Given the description of an element on the screen output the (x, y) to click on. 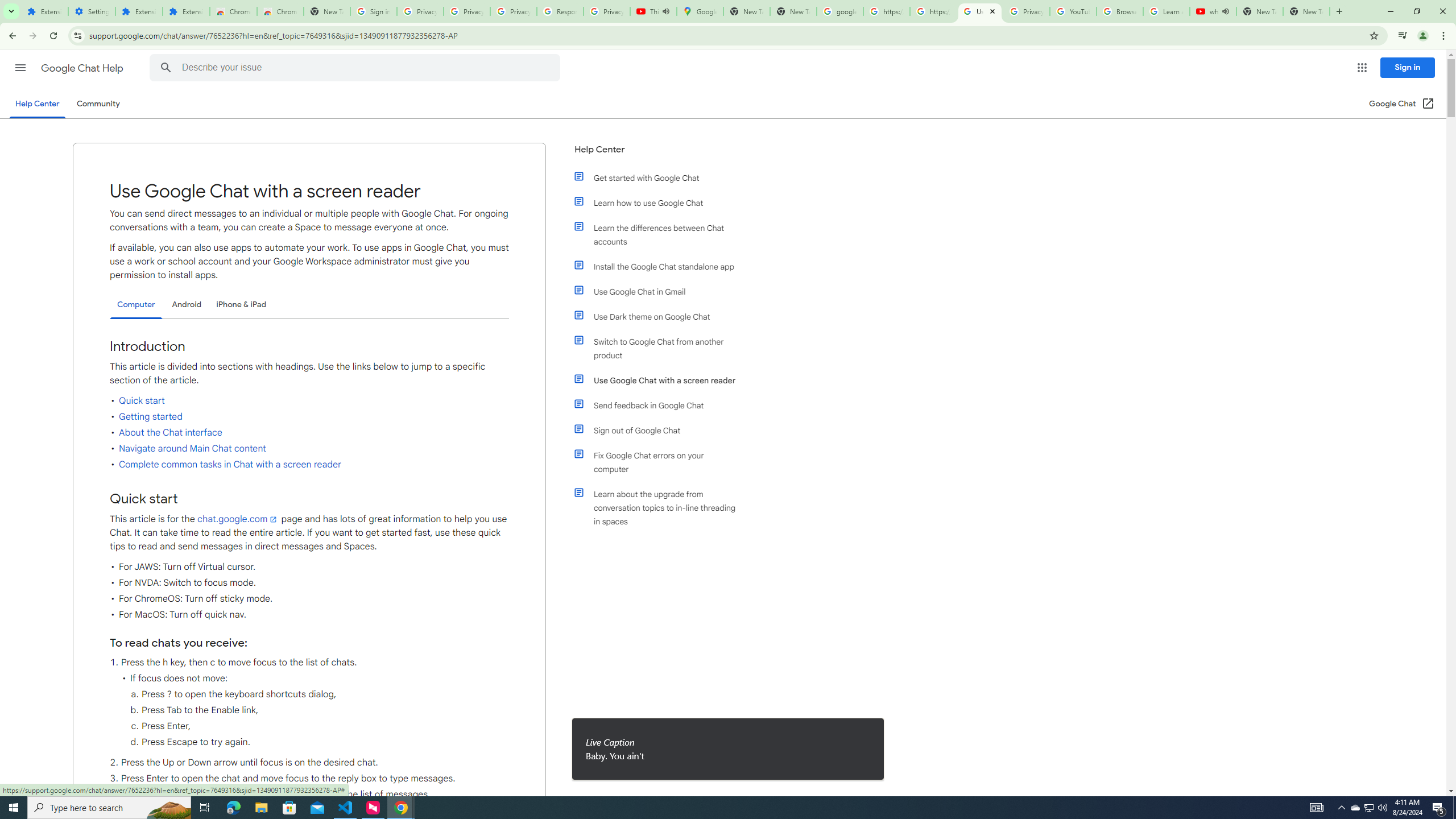
iPhone & iPad (240, 304)
Extensions (138, 11)
Quick start (141, 401)
Computer (136, 305)
Browse Chrome as a guest - Computer - Google Chrome Help (1120, 11)
Complete common tasks in Chat with a screen reader (230, 464)
